Given the description of an element on the screen output the (x, y) to click on. 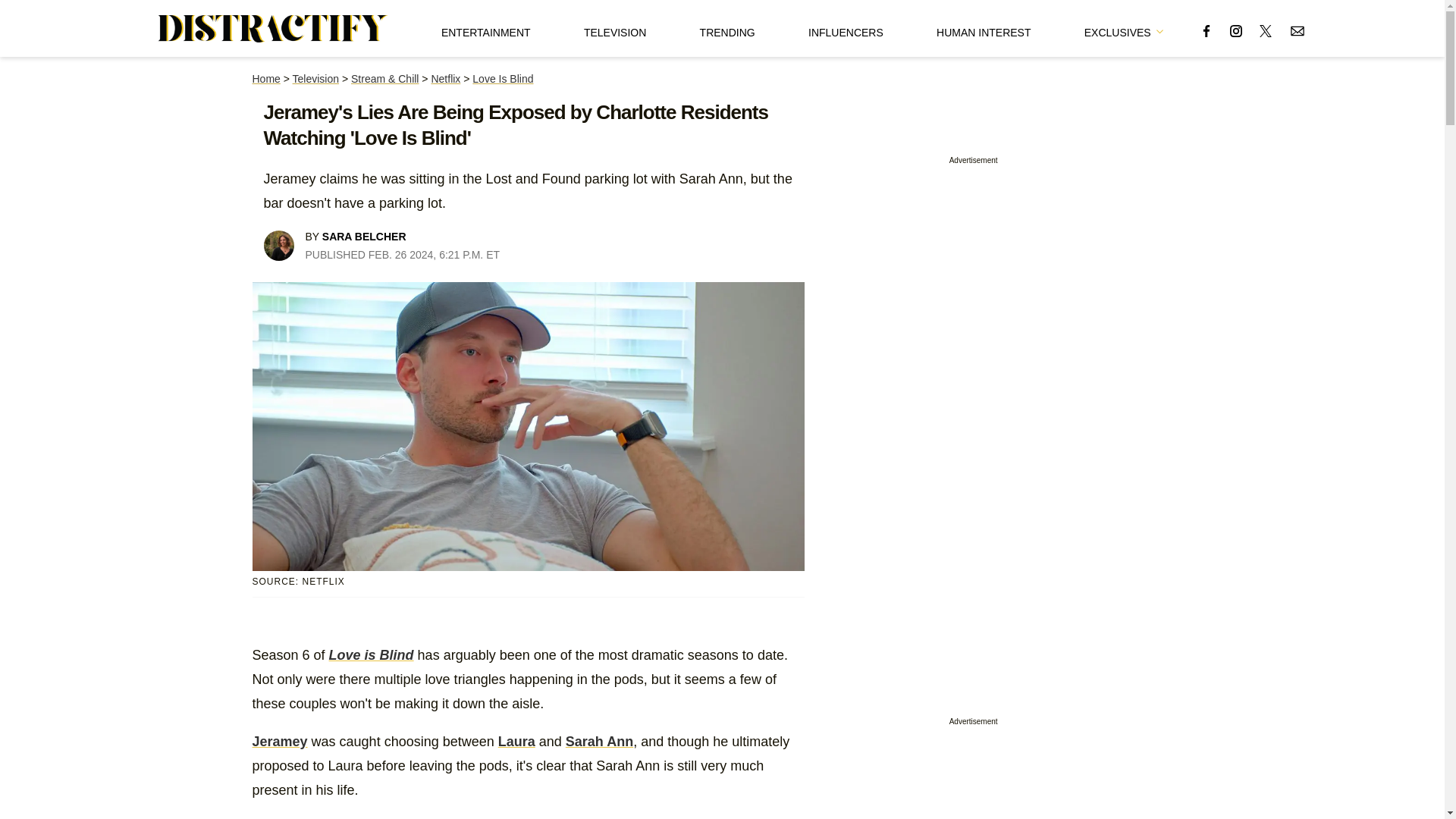
Love is Blind (371, 654)
TELEVISION (614, 27)
LINK TO FACEBOOK (1205, 30)
SARA BELCHER (363, 236)
Jeramey (279, 741)
ENTERTAINMENT (486, 27)
Television (315, 78)
Love Is Blind (501, 78)
HUMAN INTEREST (983, 27)
Laura (516, 741)
